Given the description of an element on the screen output the (x, y) to click on. 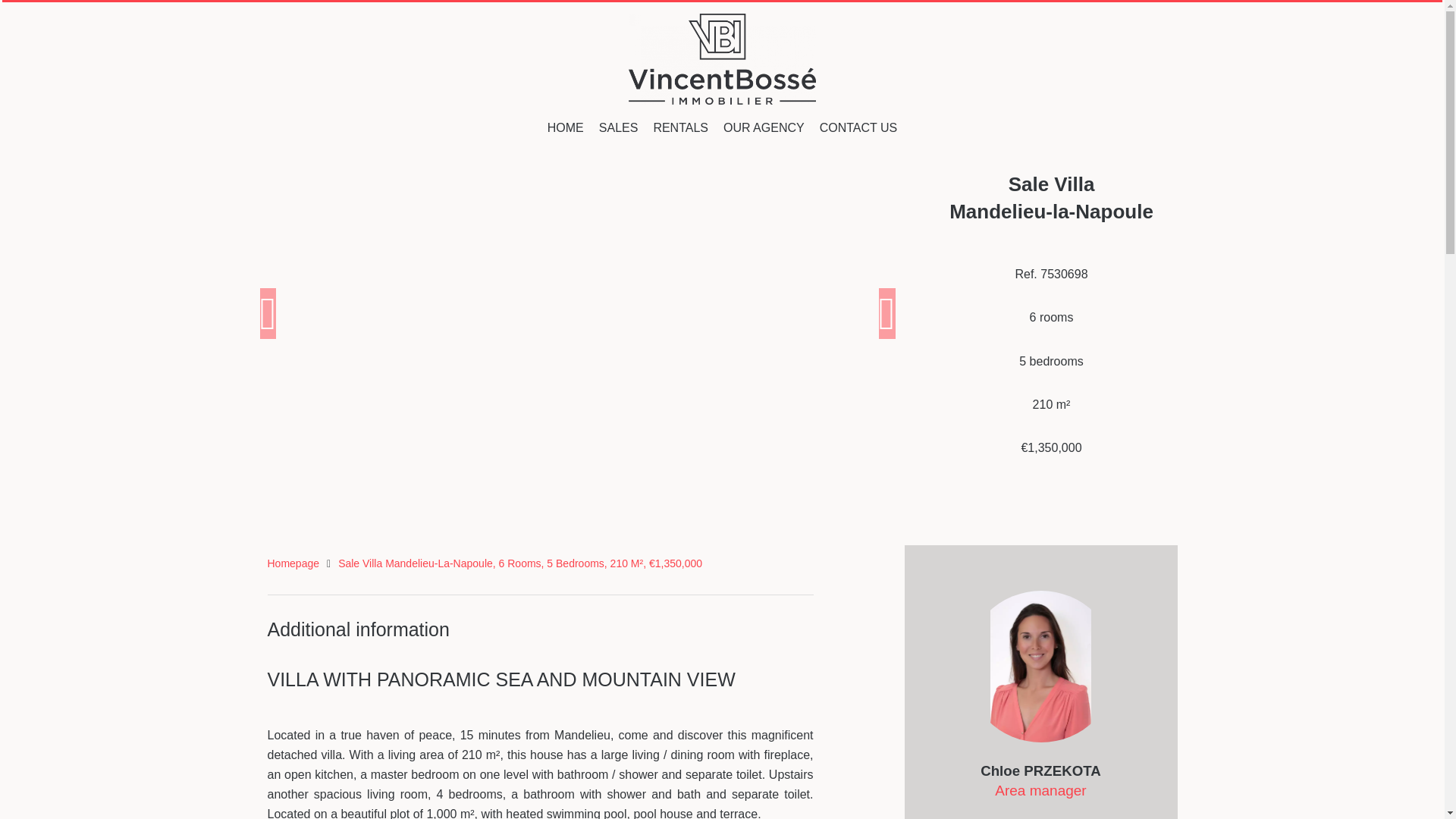
CONTACT US (858, 127)
RENTALS (679, 127)
HOME (565, 127)
SALES (618, 127)
Homepage (292, 563)
OUR AGENCY (764, 127)
